Given the description of an element on the screen output the (x, y) to click on. 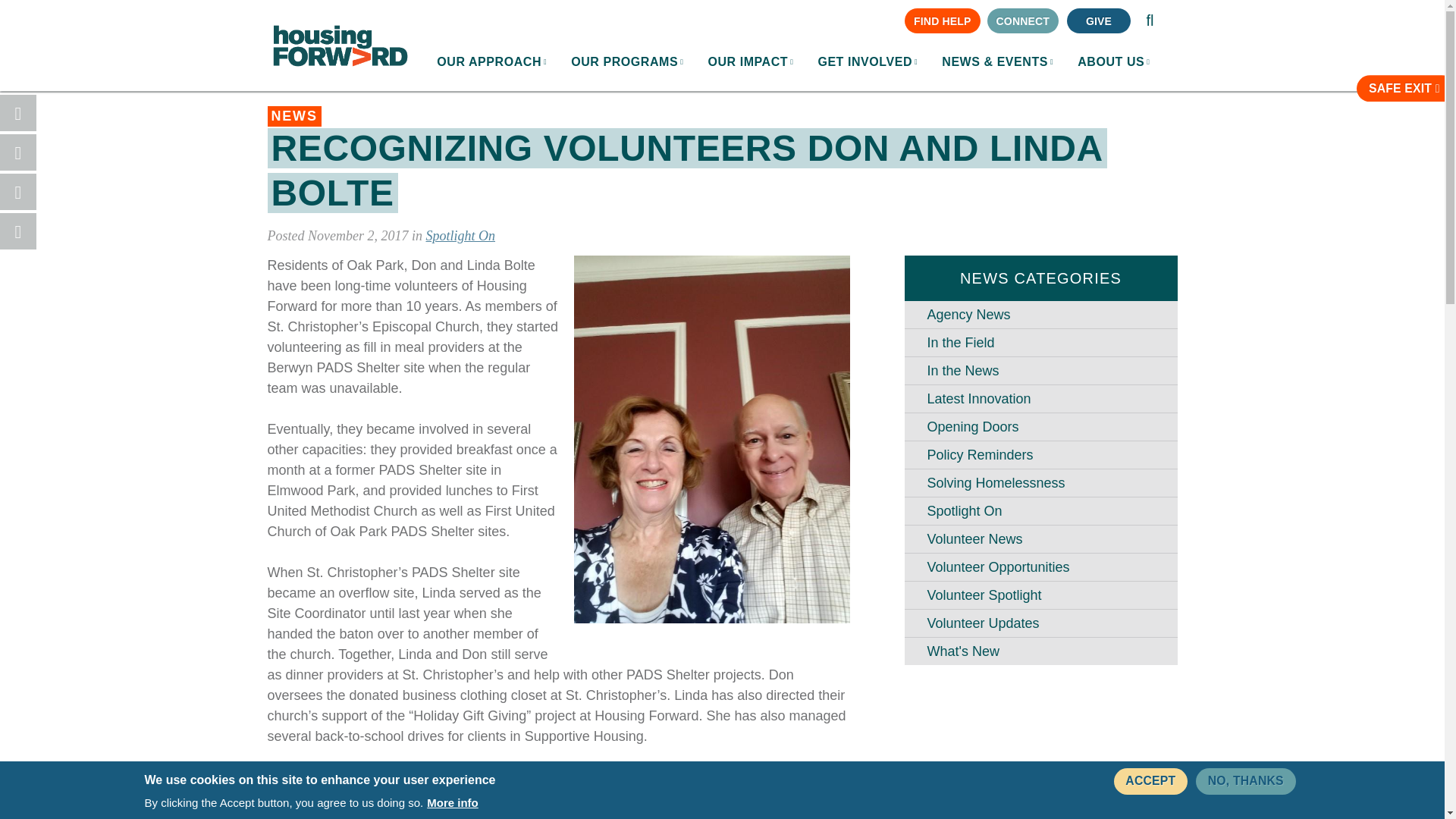
GIVE (1097, 20)
Share on Facebook (18, 113)
ABOUT US (1113, 61)
In the News (1040, 370)
GET INVOLVED (867, 61)
OUR IMPACT (750, 61)
Volunteer Spotlight (1040, 595)
OUR PROGRAMS (627, 61)
Volunteer Updates (1040, 623)
Solving Homelessness (1040, 482)
Volunteer News (1040, 538)
FIND HELP (941, 20)
Agency News (1040, 314)
Policy Reminders (1040, 454)
Spotlight On (1040, 510)
